Given the description of an element on the screen output the (x, y) to click on. 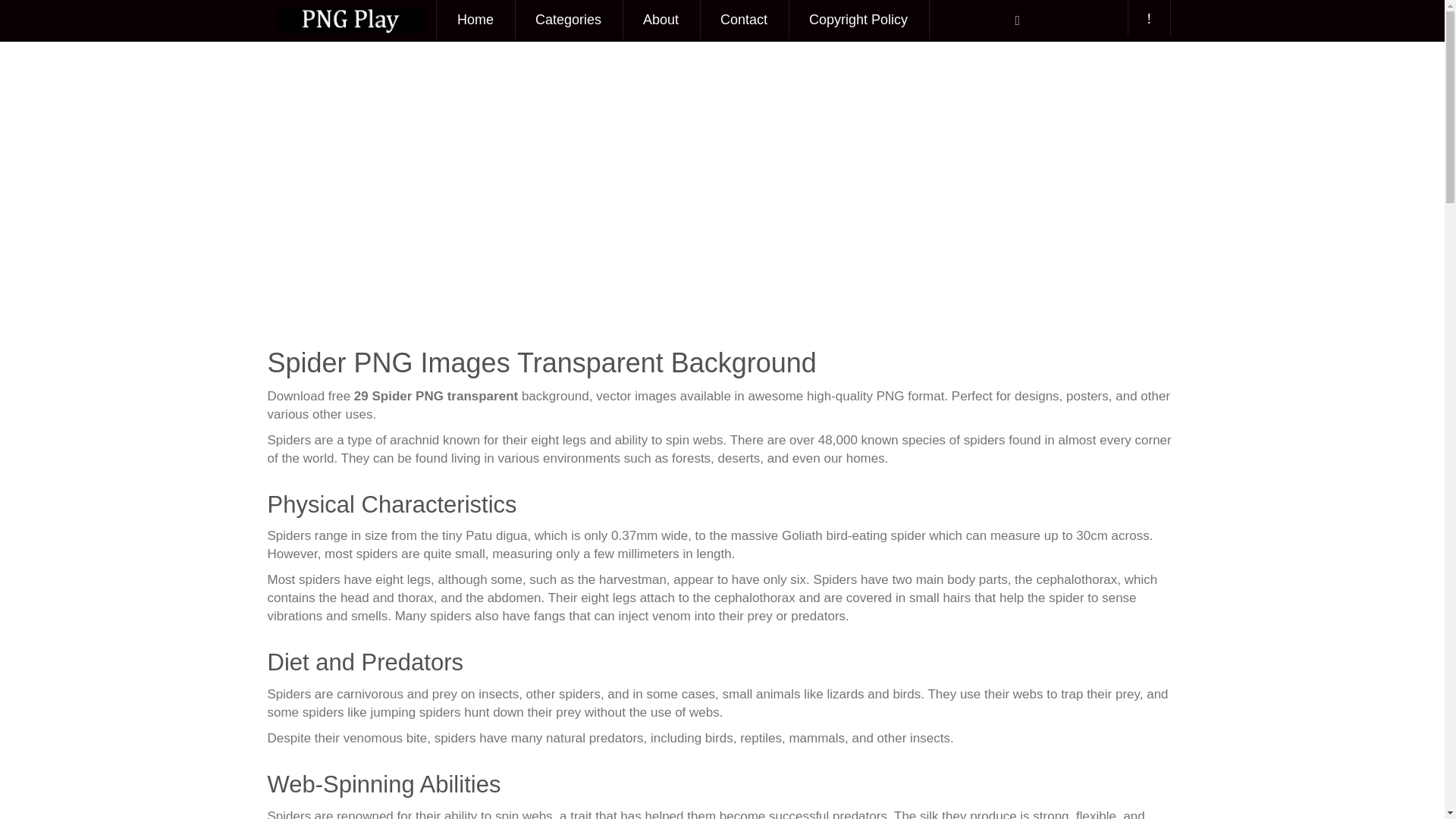
Home (474, 19)
Categories (568, 19)
Copyright Policy (858, 19)
Contact (743, 19)
About (660, 19)
